Given the description of an element on the screen output the (x, y) to click on. 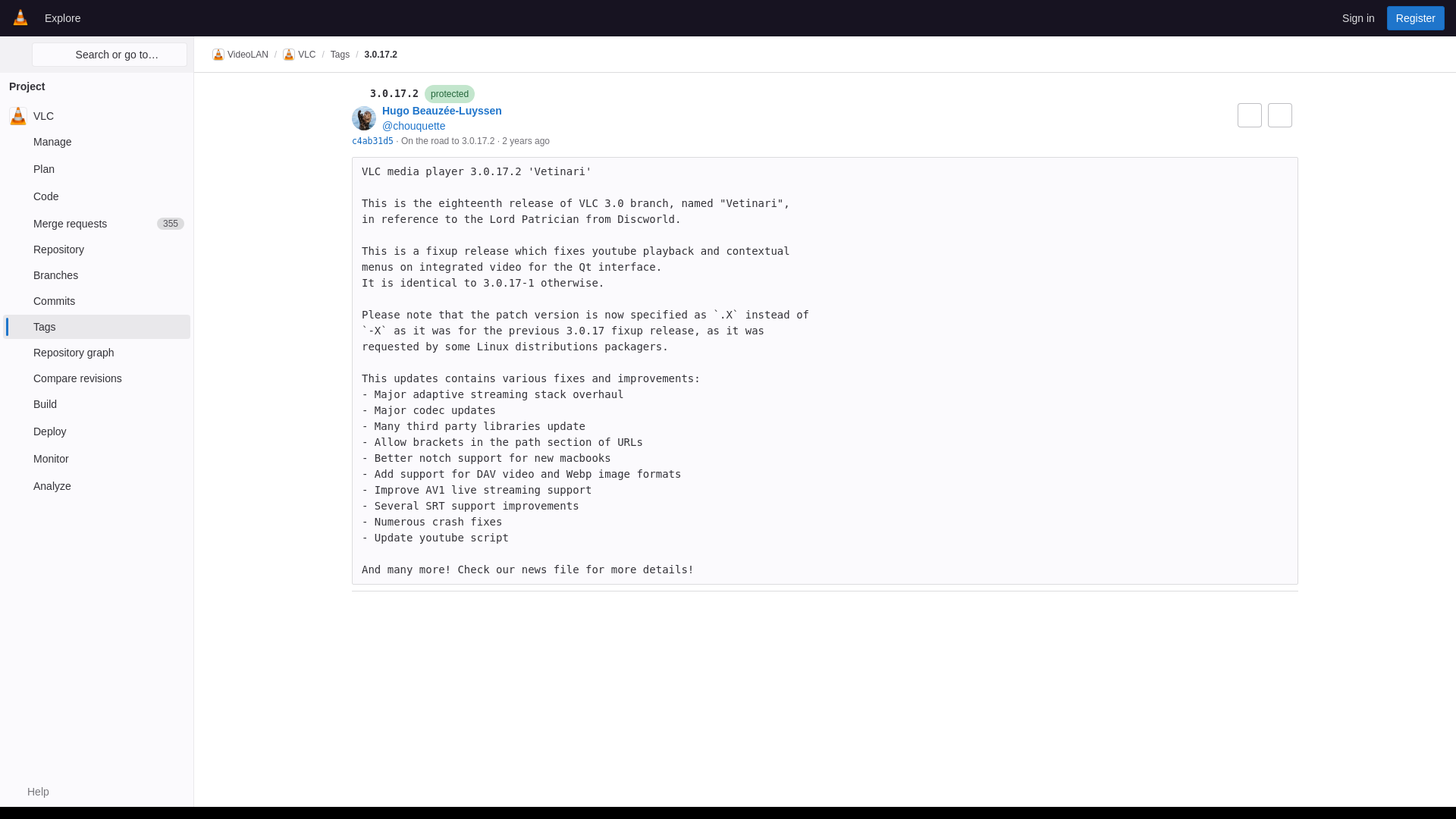
Tags (96, 326)
Homepage (20, 17)
Plan (96, 168)
Browse commits (1280, 115)
Browse files (1249, 115)
Branches (96, 274)
Compare revisions (96, 378)
Deploy (96, 431)
Manage (96, 223)
